Given the description of an element on the screen output the (x, y) to click on. 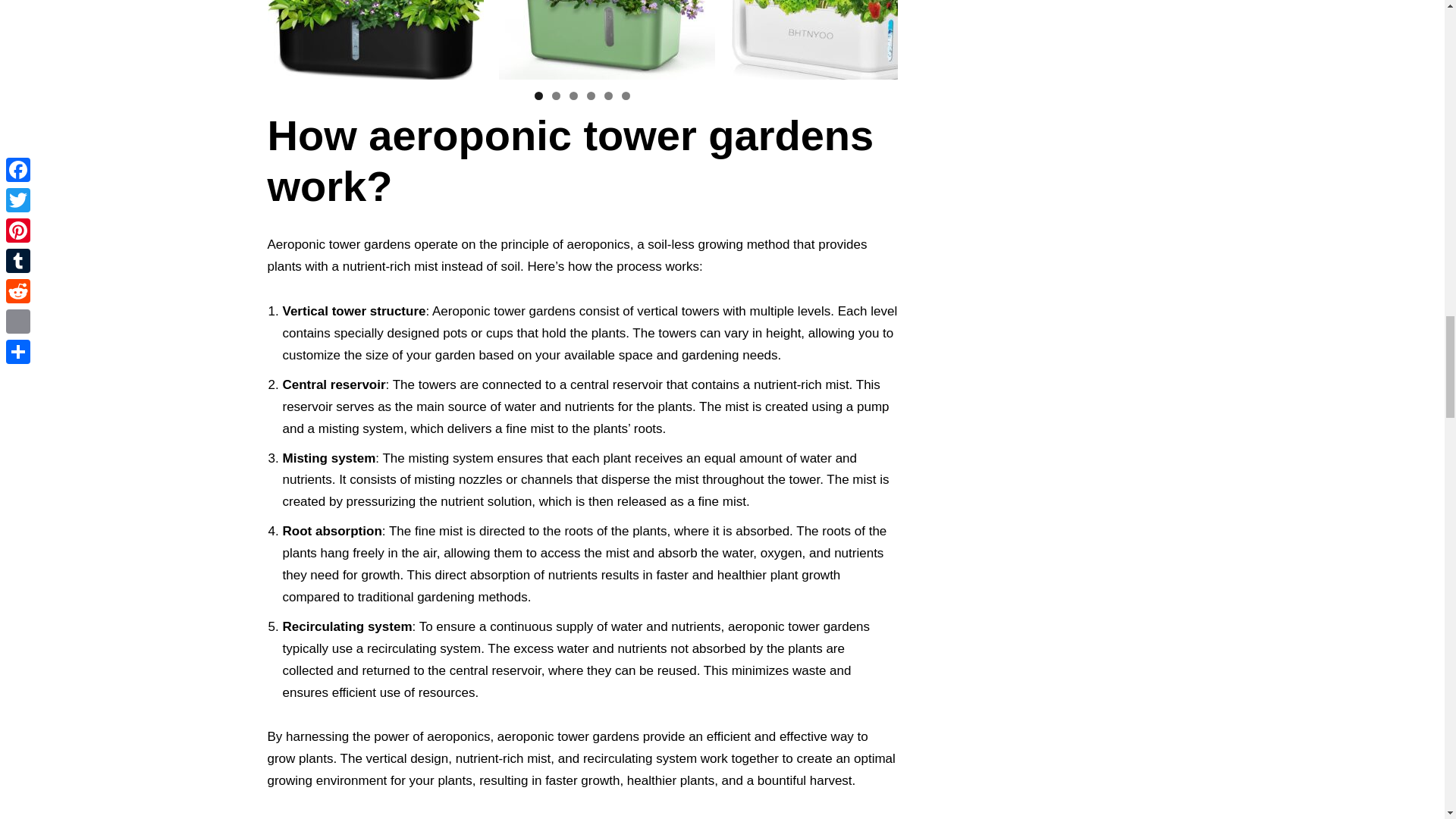
Hydroponics Growing System-3 (836, 39)
Hydroponics Growing System-1 (374, 39)
Hydroponics Growing System-2 (606, 39)
